Given the description of an element on the screen output the (x, y) to click on. 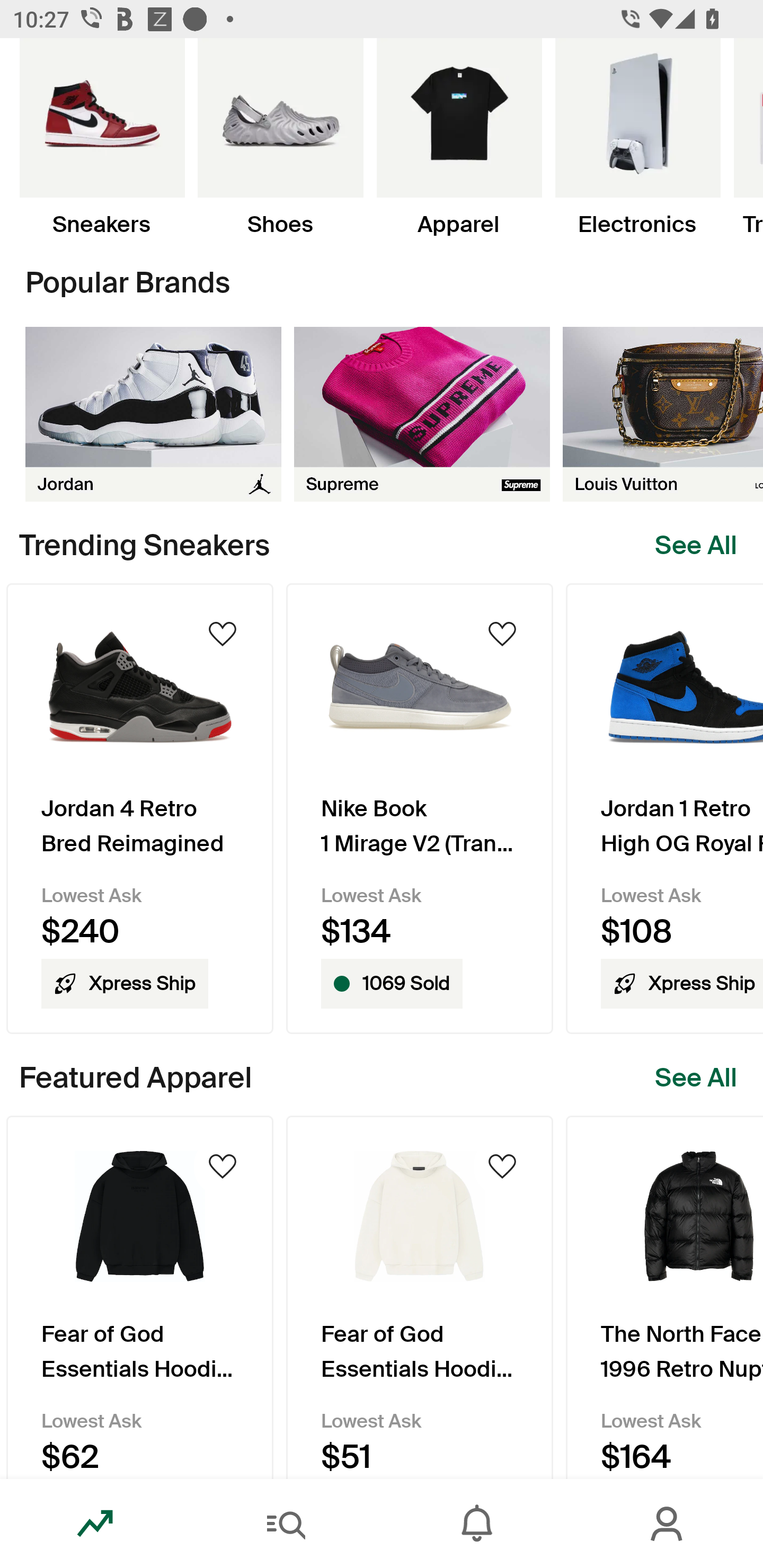
Product Image Sneakers (101, 137)
Product Image Shoes (280, 137)
Product Image Apparel (458, 137)
Product Image Electronics (637, 137)
jordan.jpg (153, 413)
supreme.jpg (421, 413)
lv.jpg (663, 413)
See All (695, 545)
See All (695, 1077)
Search (285, 1523)
Inbox (476, 1523)
Account (667, 1523)
